Given the description of an element on the screen output the (x, y) to click on. 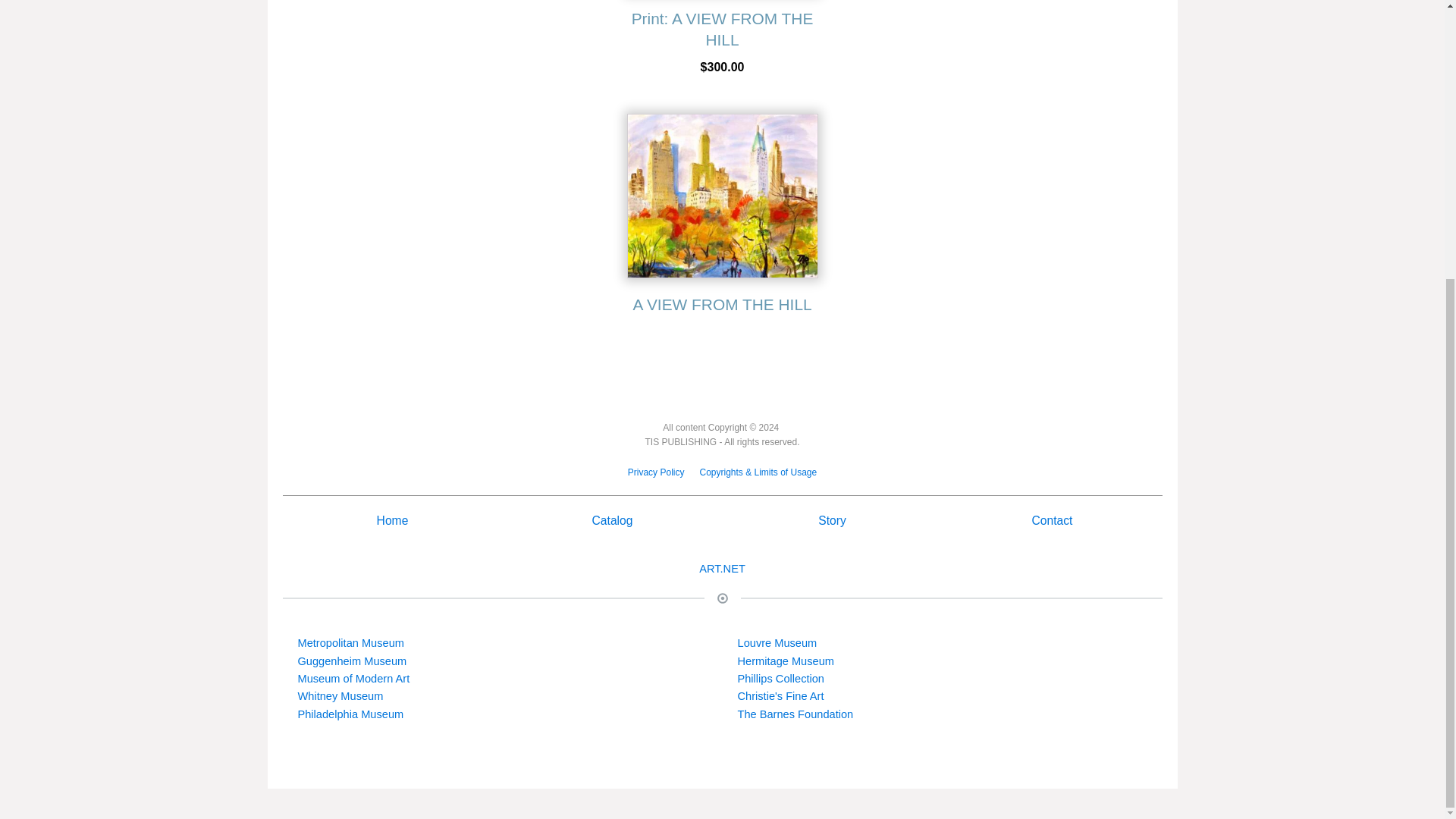
Story (831, 520)
Guggenheim Museum (351, 661)
Metropolitan Museum (350, 642)
Catalog (612, 520)
ART.NET (721, 569)
Home (393, 520)
Privacy Policy (656, 472)
A VIEW FROM THE HILL (721, 217)
